Given the description of an element on the screen output the (x, y) to click on. 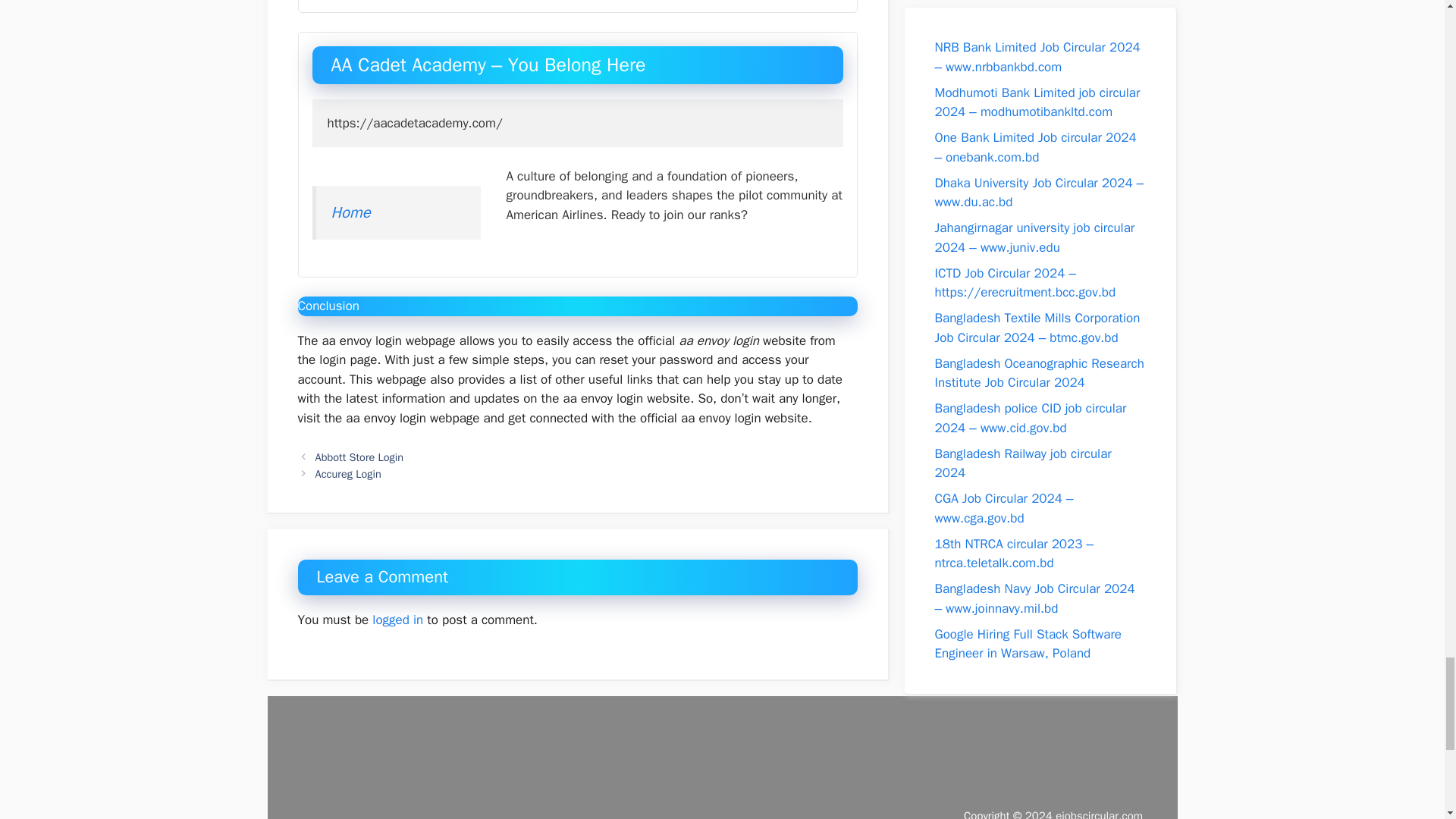
Home (349, 211)
Abbott Store Login (359, 457)
Accureg Login (348, 473)
logged in (397, 619)
ejobscircular (1098, 814)
